Given the description of an element on the screen output the (x, y) to click on. 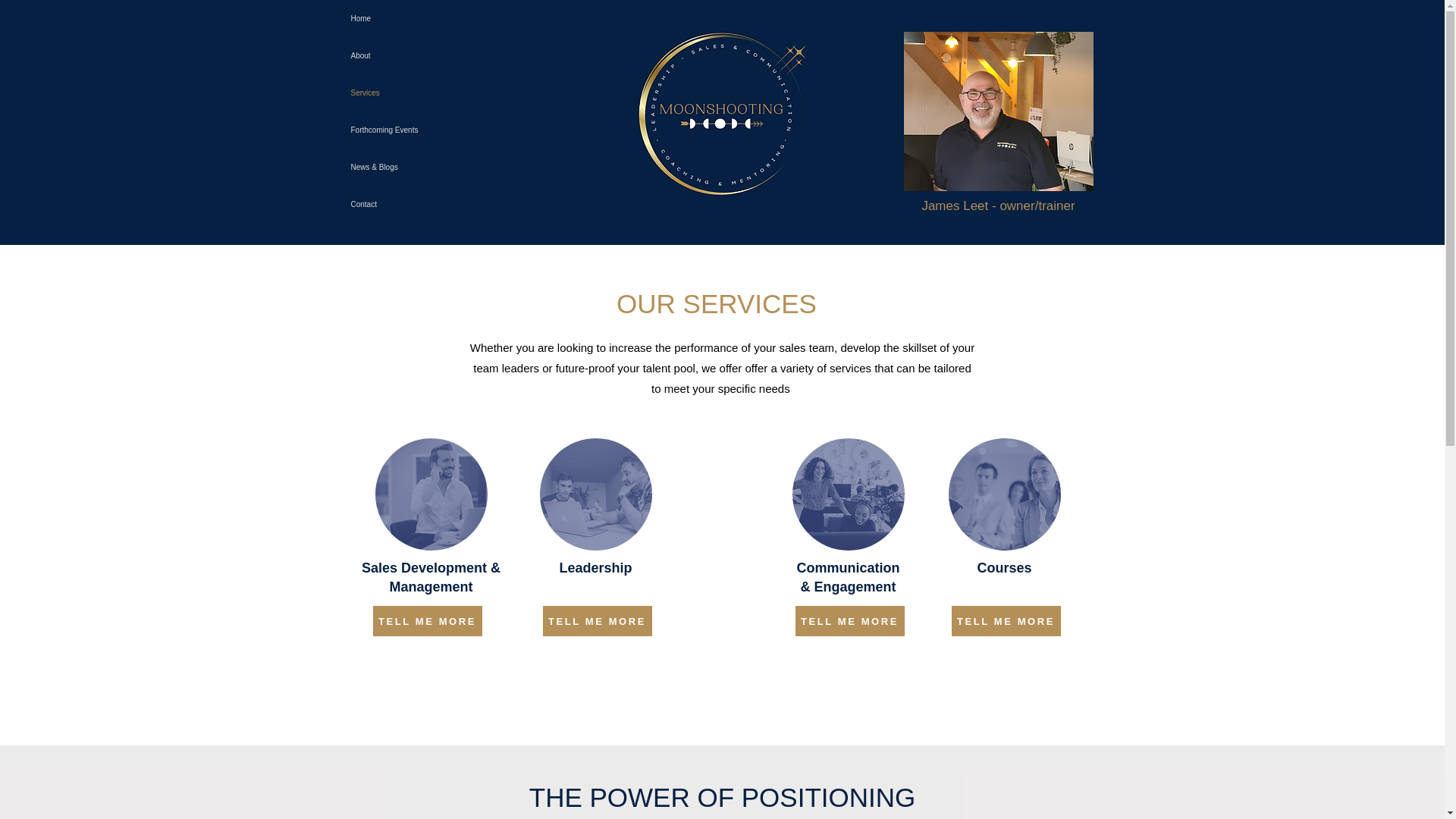
TELL ME MORE (1004, 621)
TELL ME MORE (597, 621)
5.png (998, 110)
TELL ME MORE (849, 621)
Home (405, 18)
TELL ME MORE (426, 621)
Forthcoming Events (405, 129)
Courses (1003, 567)
Contact (405, 203)
Services (405, 92)
